Given the description of an element on the screen output the (x, y) to click on. 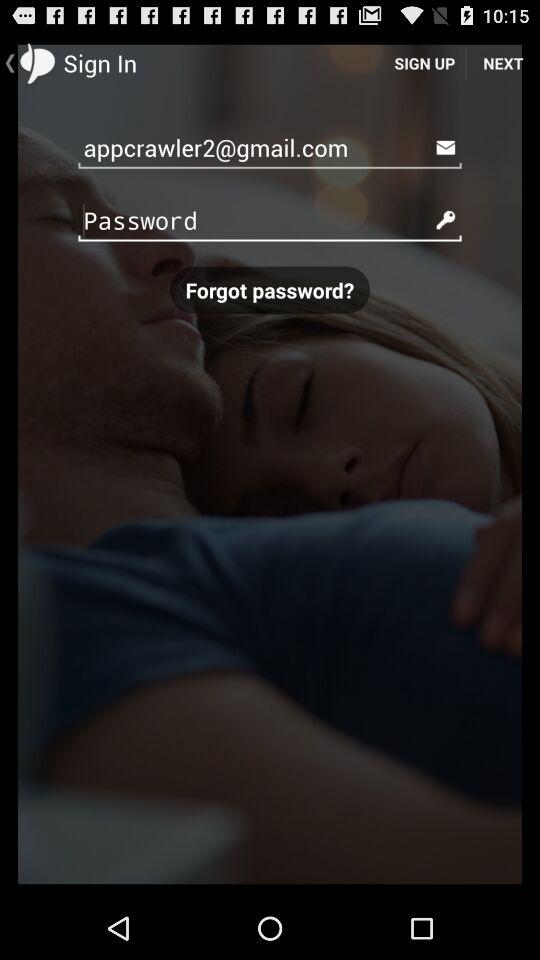
turn off item next to sign in (424, 62)
